Given the description of an element on the screen output the (x, y) to click on. 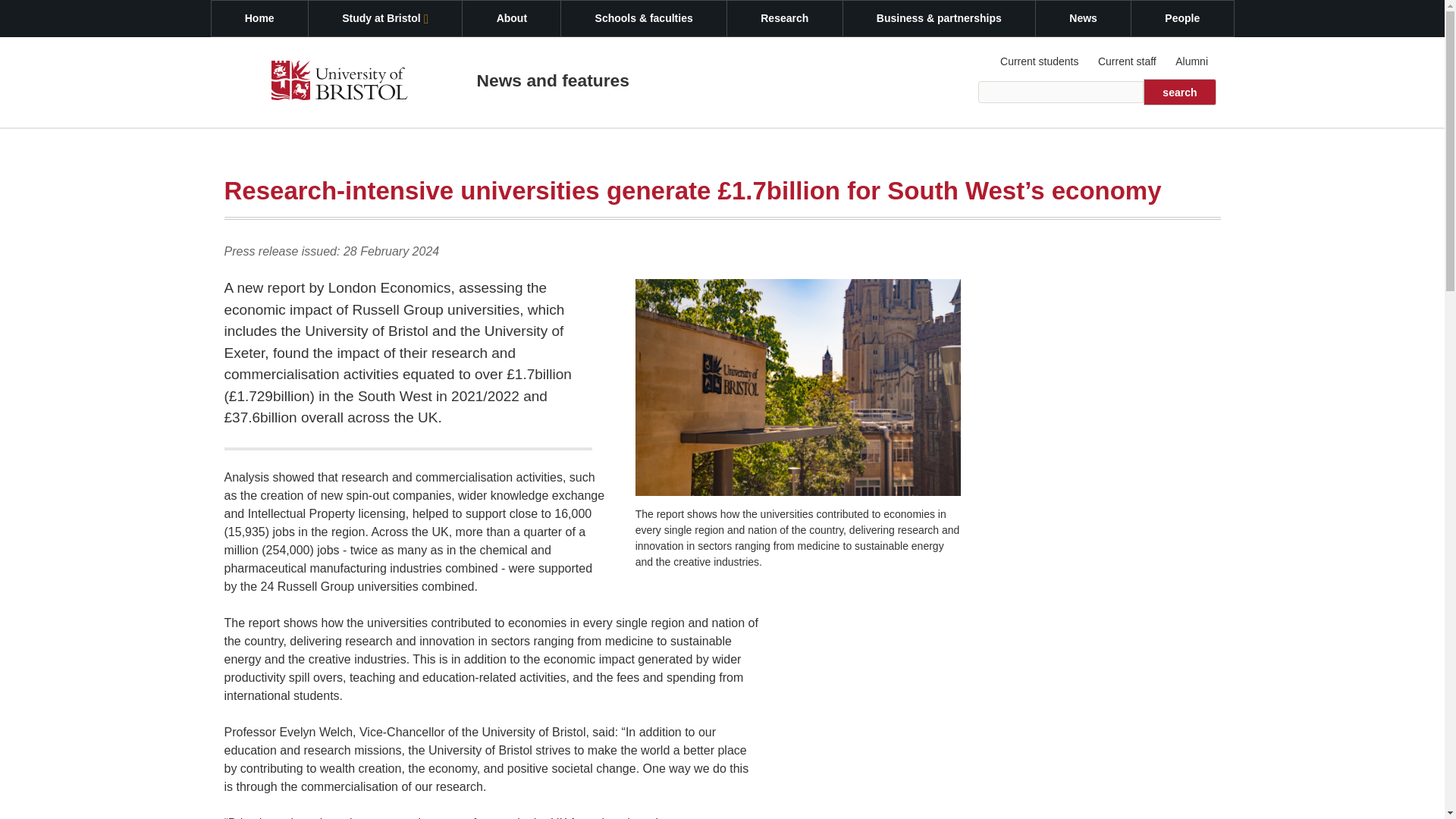
People (1182, 18)
Current staff (1126, 61)
search (1178, 91)
Homepage (338, 82)
search (1178, 91)
About (511, 18)
Home (259, 18)
News (1083, 18)
enter search keywords (1061, 92)
Current students (1039, 61)
